Given the description of an element on the screen output the (x, y) to click on. 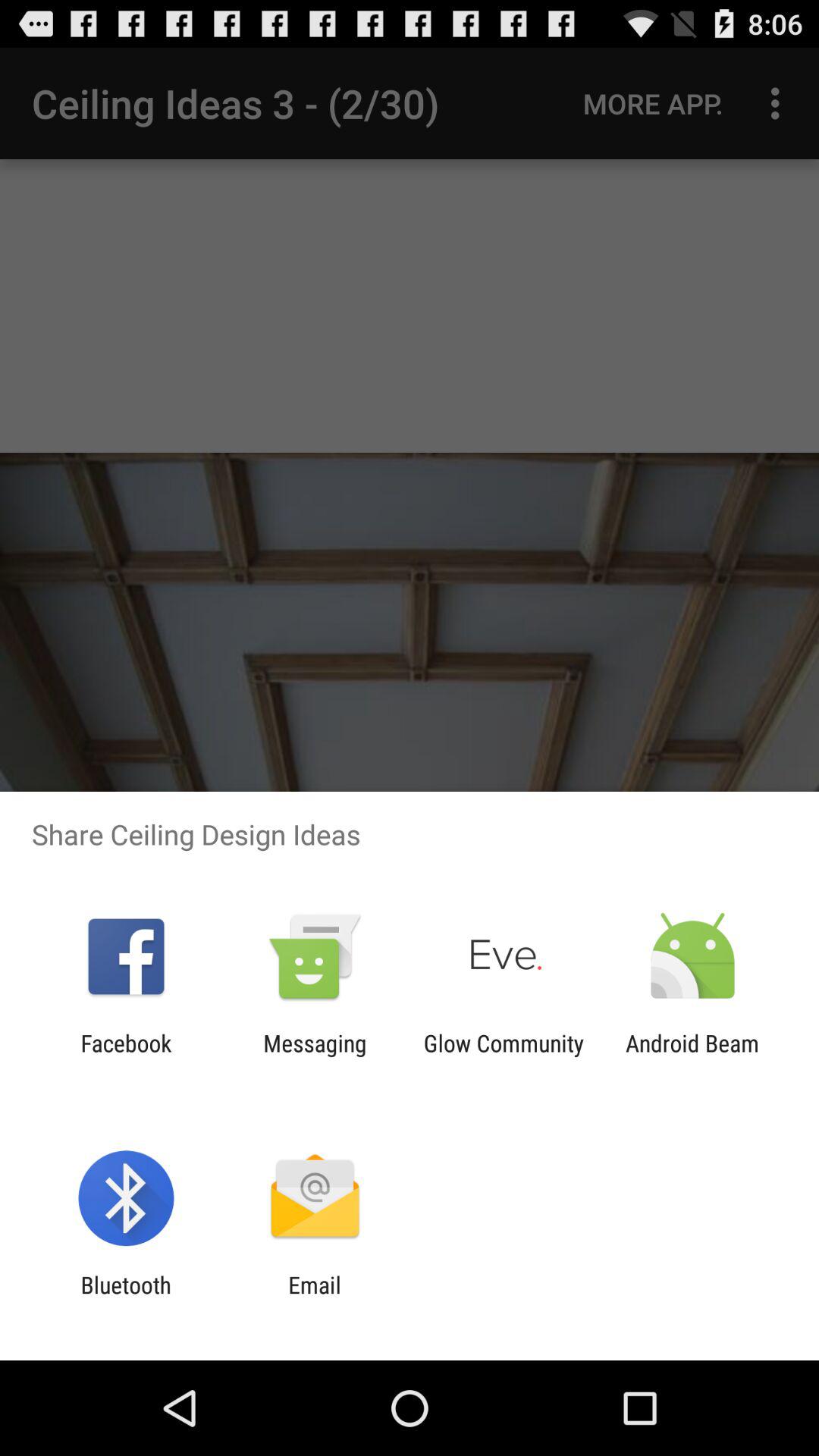
launch app to the right of facebook item (314, 1056)
